Given the description of an element on the screen output the (x, y) to click on. 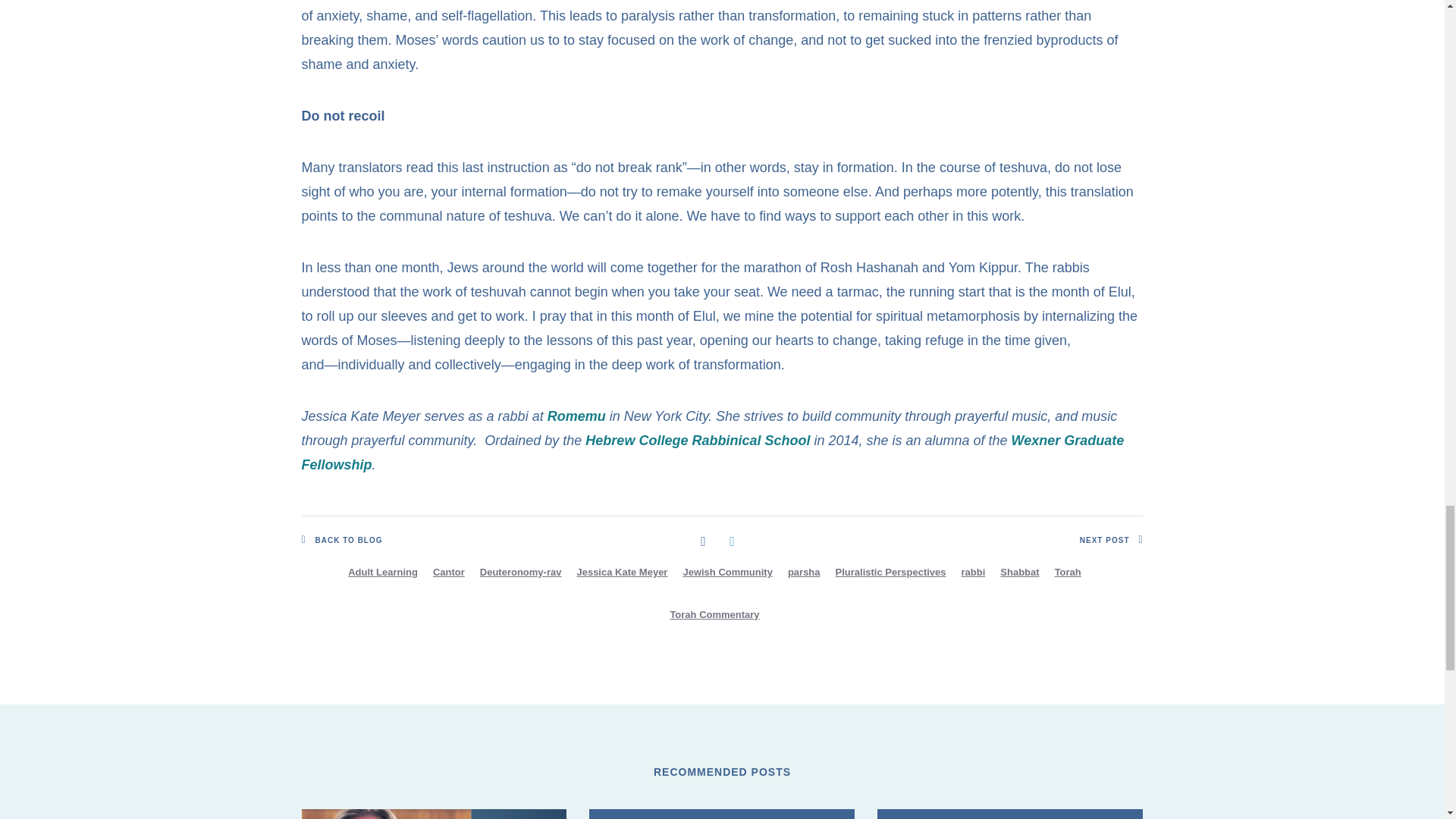
Deuteronomy-rav (520, 572)
Cantor (448, 572)
Adult Learning (382, 572)
Jewish Community (726, 572)
Torah Commentary (714, 614)
Pluralistic Perspectives (890, 572)
parsha (804, 572)
Shabbat (1019, 572)
Jessica Kate Meyer (622, 572)
Linked In (731, 540)
Torah (1067, 572)
rabbi (972, 572)
Facebook (702, 540)
